Given the description of an element on the screen output the (x, y) to click on. 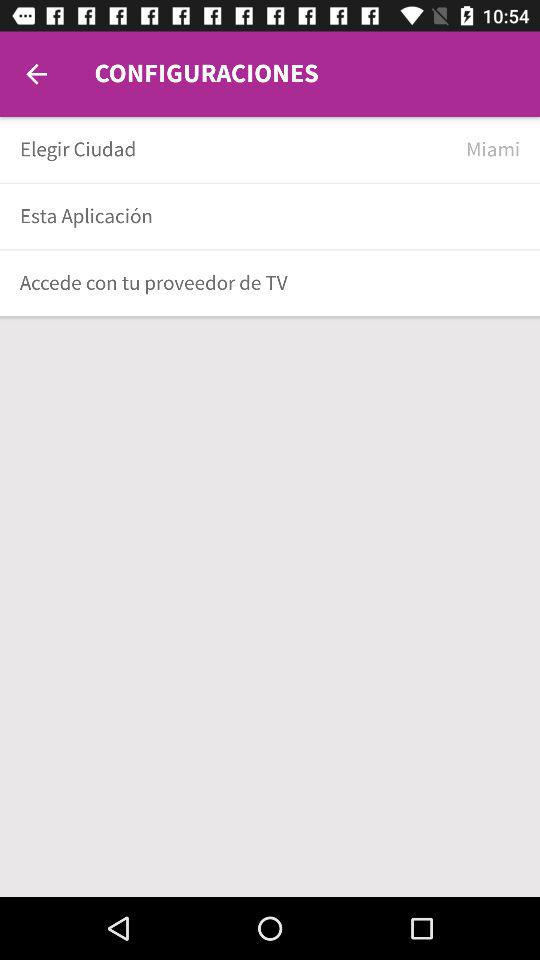
go back (36, 74)
